Given the description of an element on the screen output the (x, y) to click on. 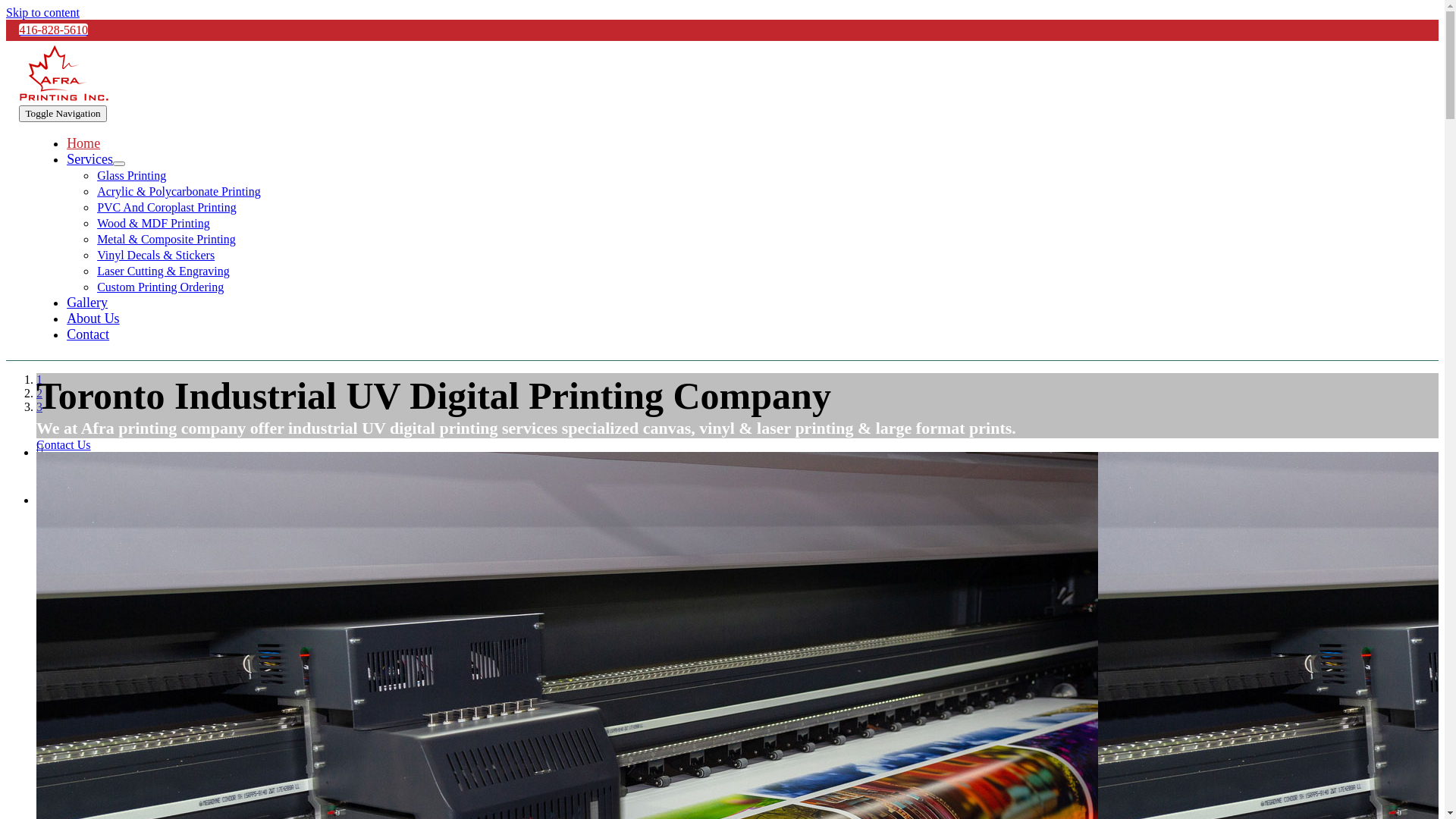
Glass Printing Element type: text (131, 175)
PVC And Coroplast Printing Element type: text (166, 206)
Gallery Element type: text (86, 302)
2 Element type: text (39, 392)
Contact Element type: text (87, 334)
1 Element type: text (39, 379)
Laser Cutting & Engraving Element type: text (163, 270)
About Us Element type: text (92, 318)
Metal & Composite Printing Element type: text (166, 238)
Toggle Navigation Element type: text (62, 113)
Vinyl Decals & Stickers Element type: text (155, 254)
Skip to content Element type: text (42, 12)
Acrylic & Polycarbonate Printing Element type: text (178, 191)
Home Element type: text (83, 142)
416-828-5610 Element type: text (52, 29)
3 Element type: text (39, 406)
Custom Printing Ordering Element type: text (160, 286)
Contact Us Element type: text (63, 444)
Wood & MDF Printing Element type: text (153, 222)
Services Element type: text (89, 158)
